Given the description of an element on the screen output the (x, y) to click on. 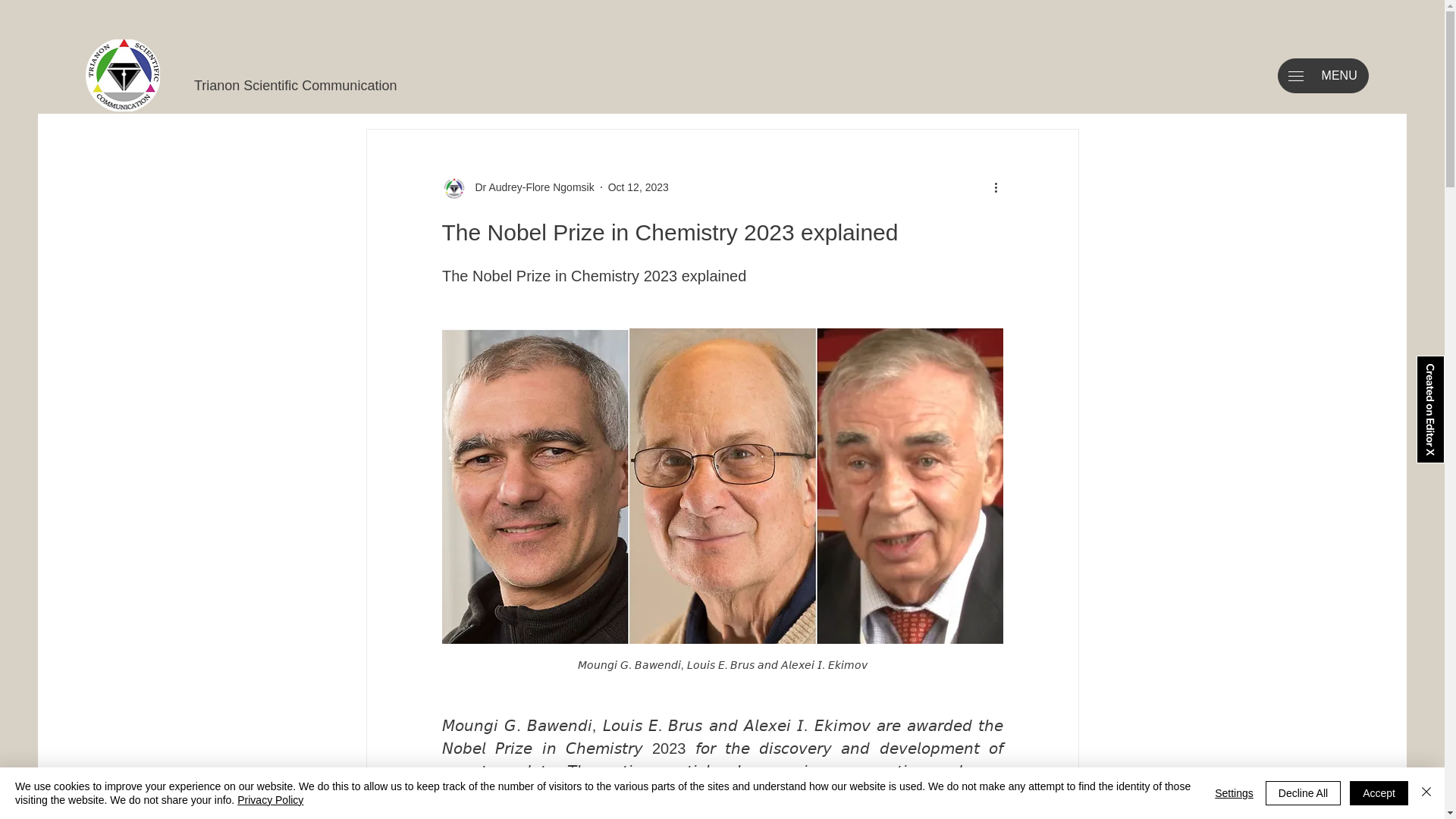
Dr Audrey-Flore Ngomsik (517, 187)
Dr Audrey-Flore Ngomsik (529, 186)
Oct 12, 2023 (638, 186)
